Given the description of an element on the screen output the (x, y) to click on. 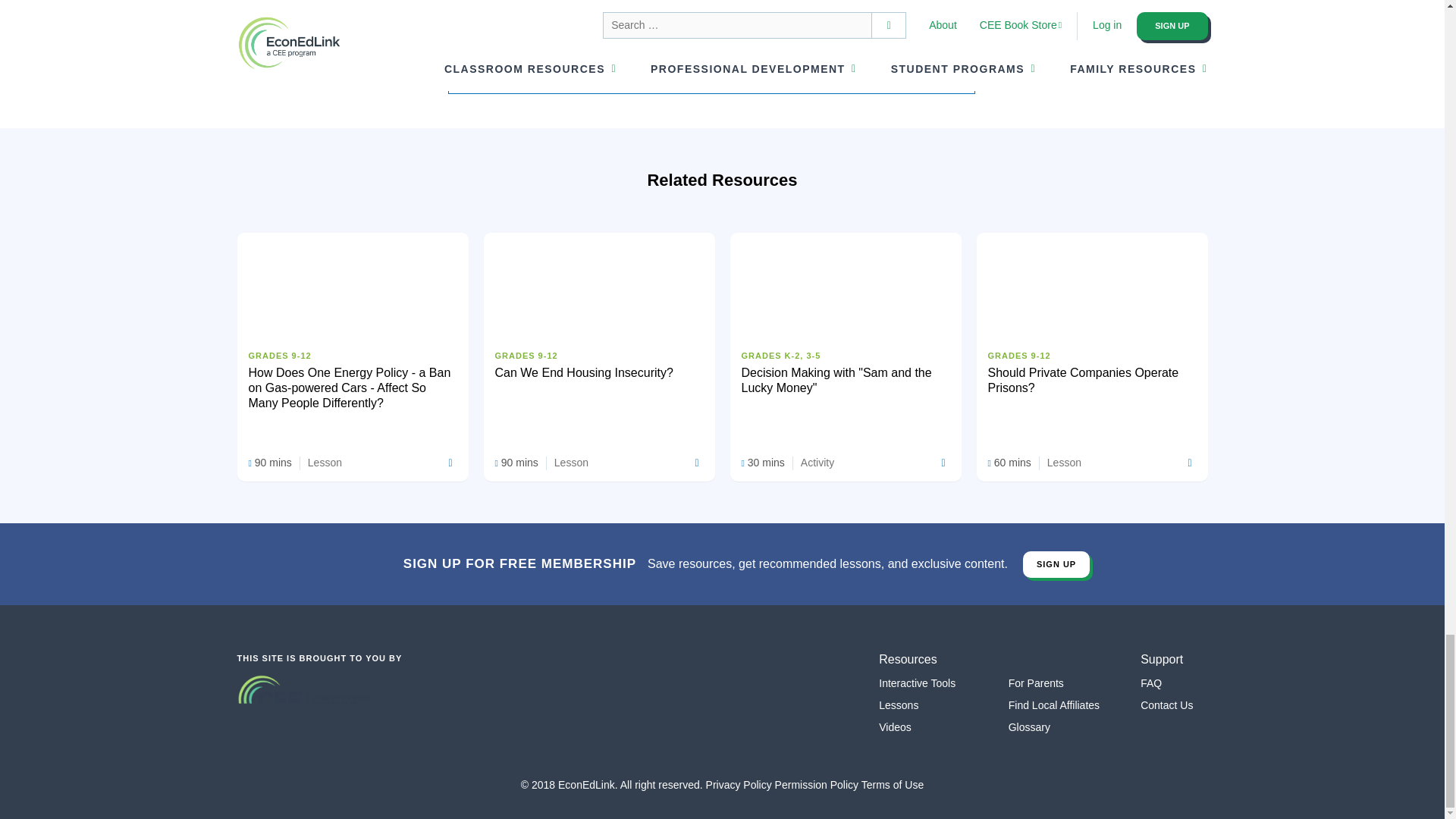
Can We End Housing Insecurity? (598, 329)
Decision Making with "Sam and the Lucky Money" (844, 337)
Should Private Companies Operate Prisons? (1092, 337)
